Given the description of an element on the screen output the (x, y) to click on. 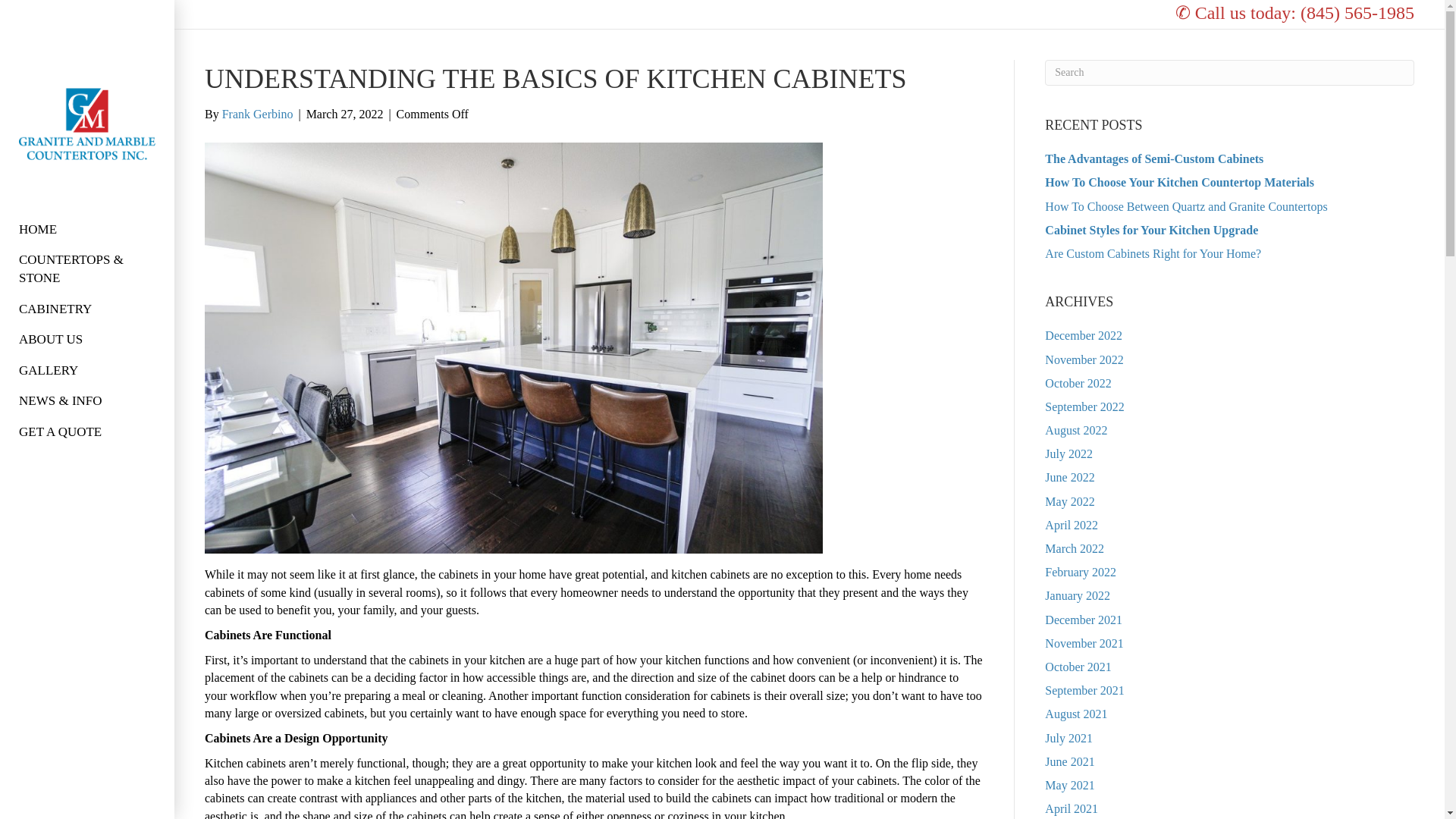
February 2022 (1080, 571)
July 2022 (1069, 453)
GET A QUOTE (60, 437)
September 2021 (1084, 689)
Are Custom Cabinets Right for Your Home? (1152, 253)
The Advantages of Semi-Custom Cabinets (1154, 158)
Frank Gerbino (258, 113)
October 2022 (1078, 382)
September 2022 (1084, 406)
October 2021 (1078, 666)
